Given the description of an element on the screen output the (x, y) to click on. 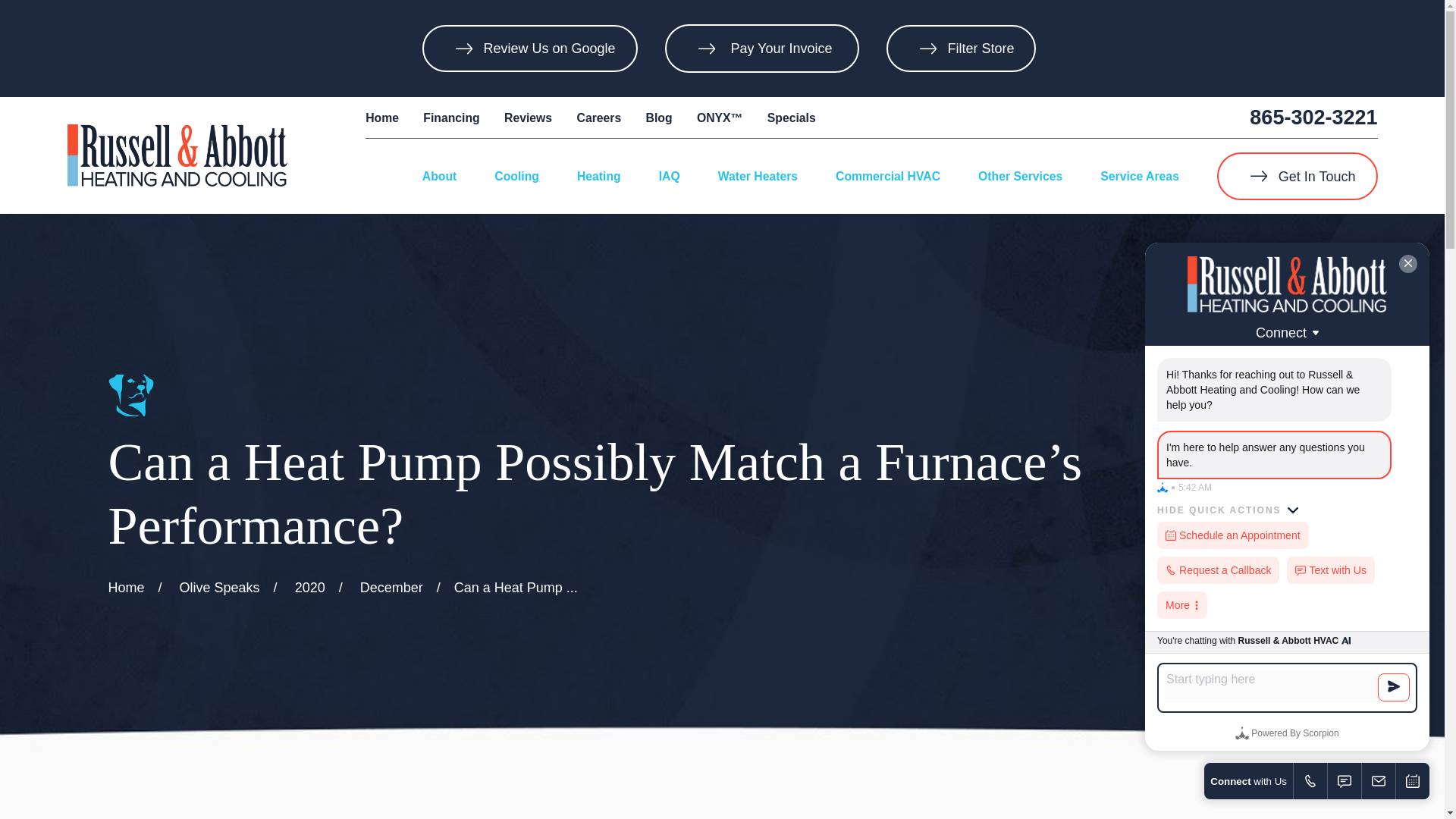
Pay Your Invoice (780, 49)
Home (381, 117)
Cooling (516, 175)
865-302-3221 (1313, 117)
Careers (598, 117)
Pay Your Invoice (780, 49)
Heating (598, 175)
Reviews (527, 117)
Home (176, 154)
Review Us on Google (529, 48)
Go Home (125, 587)
Financing (451, 117)
Specials (791, 117)
Filter Store (961, 48)
Blog (659, 117)
